Given the description of an element on the screen output the (x, y) to click on. 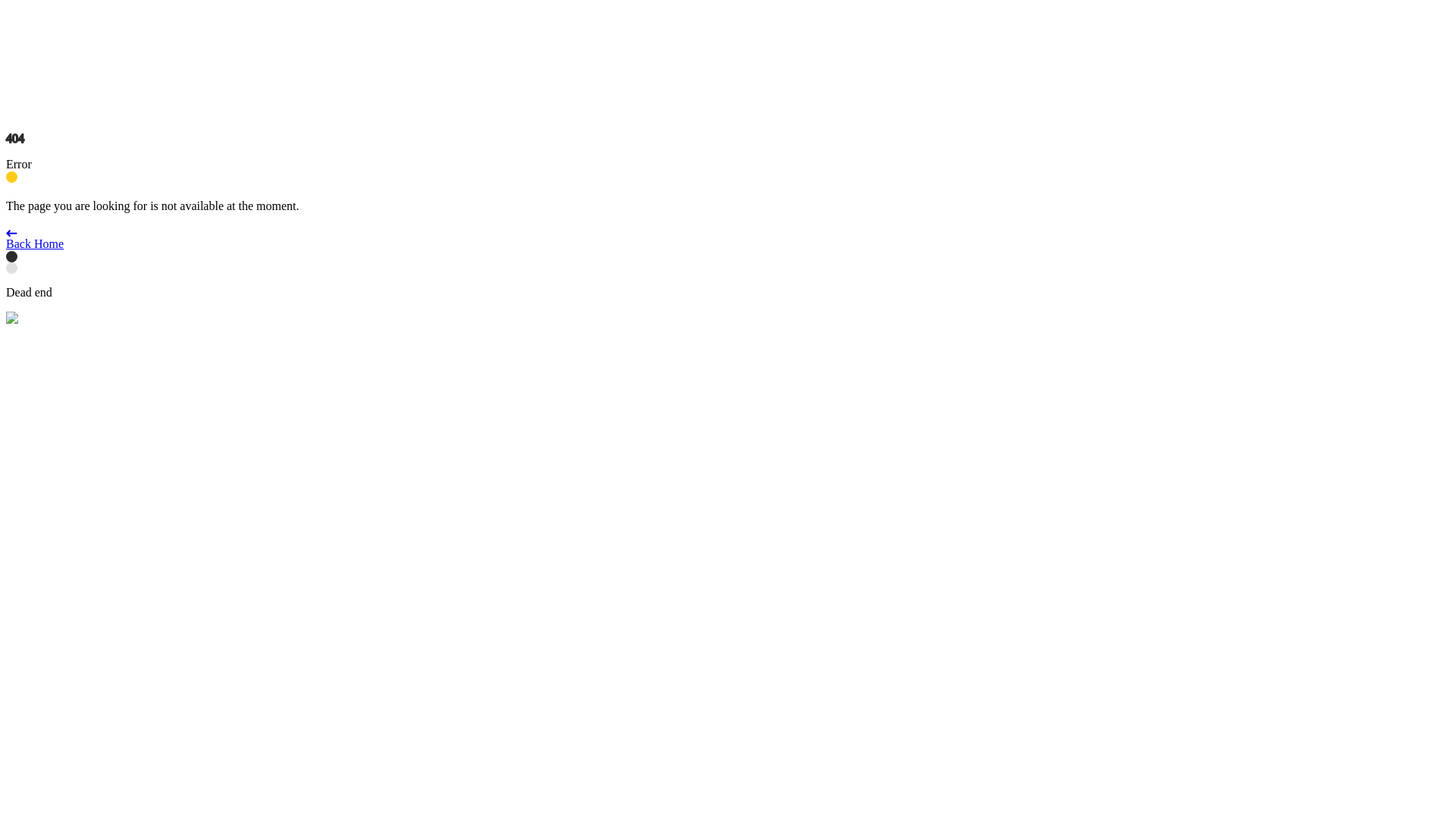
Back Home Element type: text (727, 239)
